Given the description of an element on the screen output the (x, y) to click on. 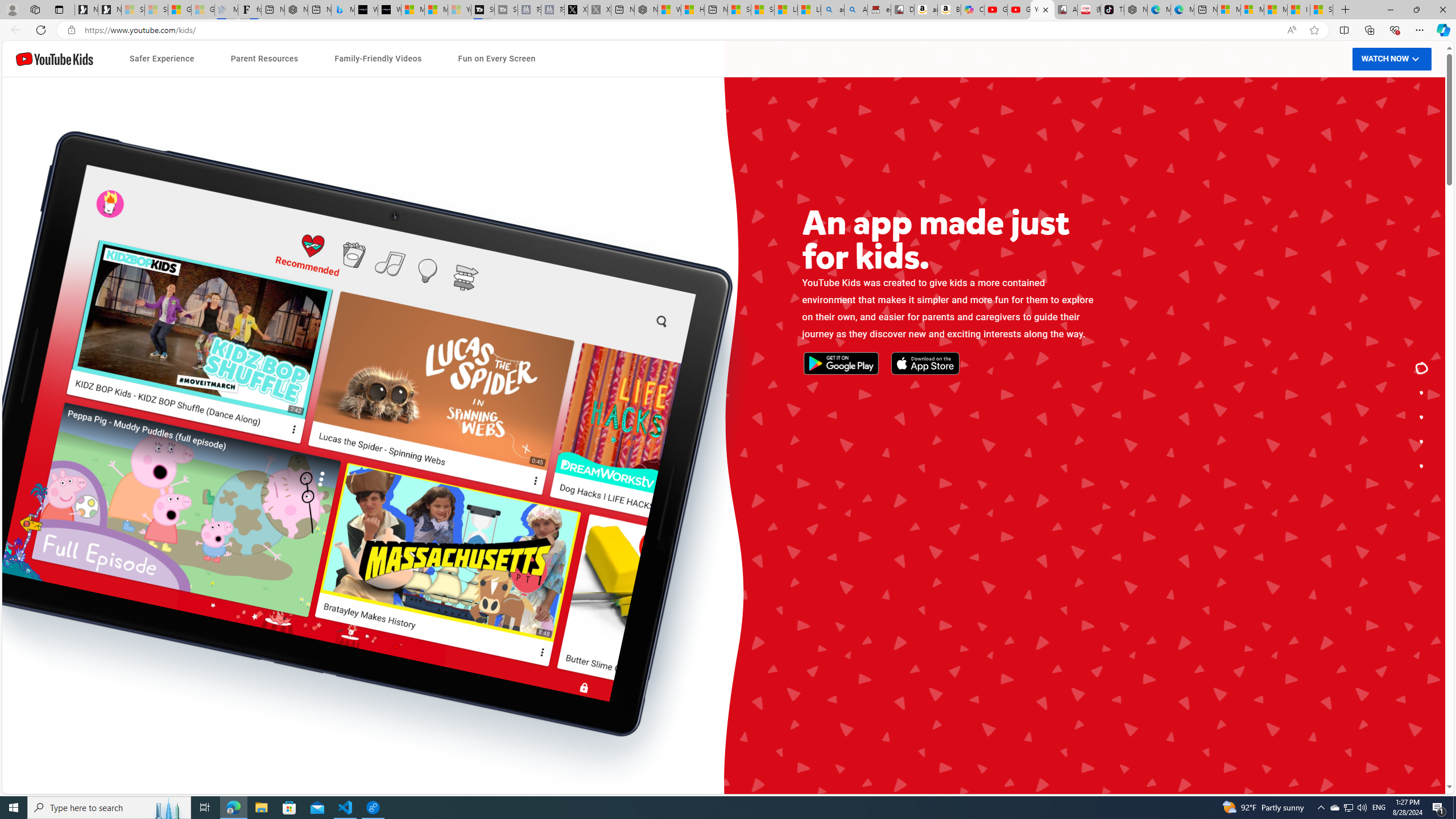
Download the free YouTube Kids app. (1421, 466)
02Toys & Play (950, 511)
YouTube Kids (54, 58)
www.youtubekids.com (579, 465)
Amazon Echo Dot PNG - Search Images (856, 9)
03 Learning & Hobbies (950, 535)
Get it on Google Play (386, 432)
